Given the description of an element on the screen output the (x, y) to click on. 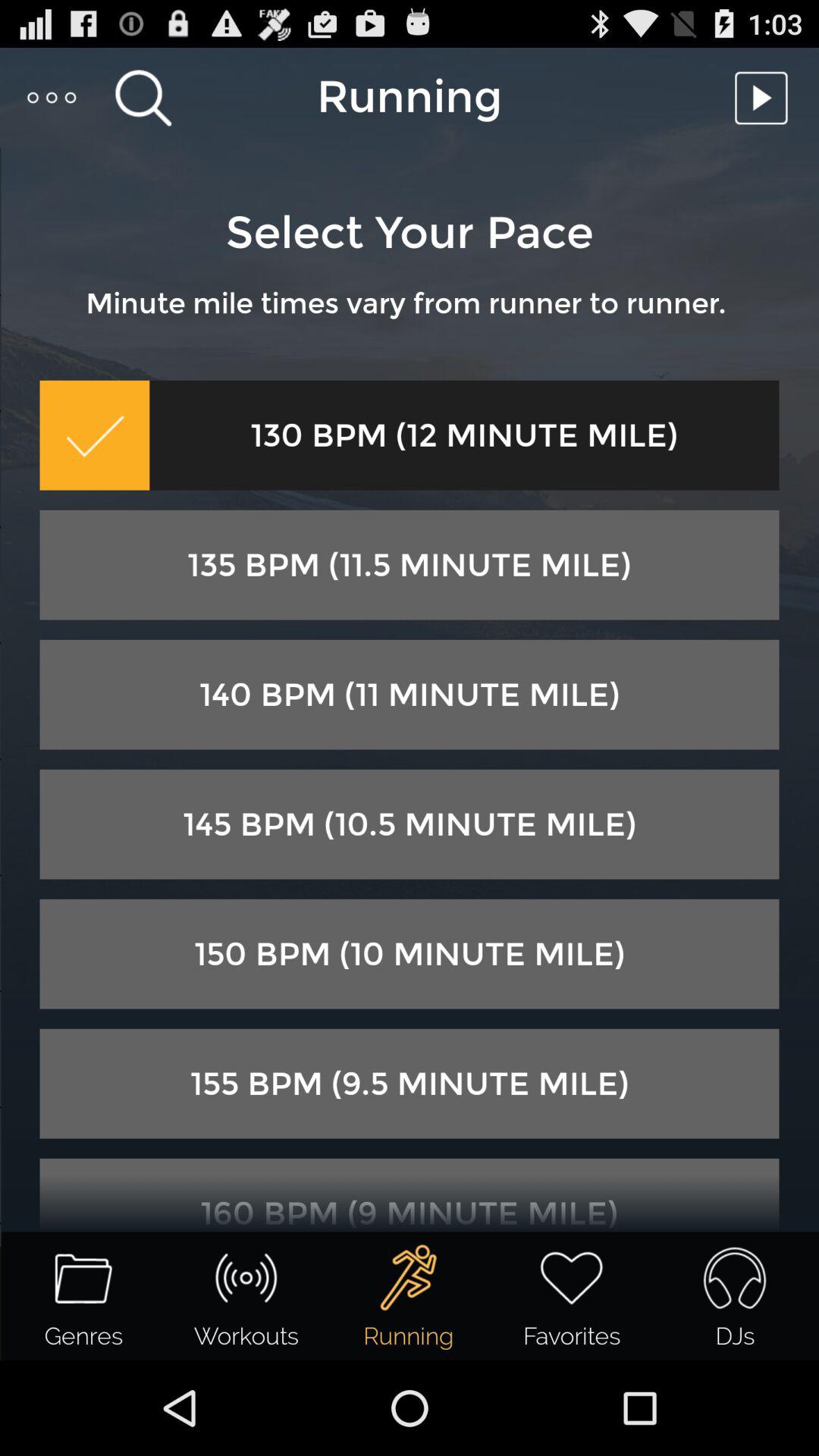
swipe until the 130 bpm 12 icon (464, 435)
